Given the description of an element on the screen output the (x, y) to click on. 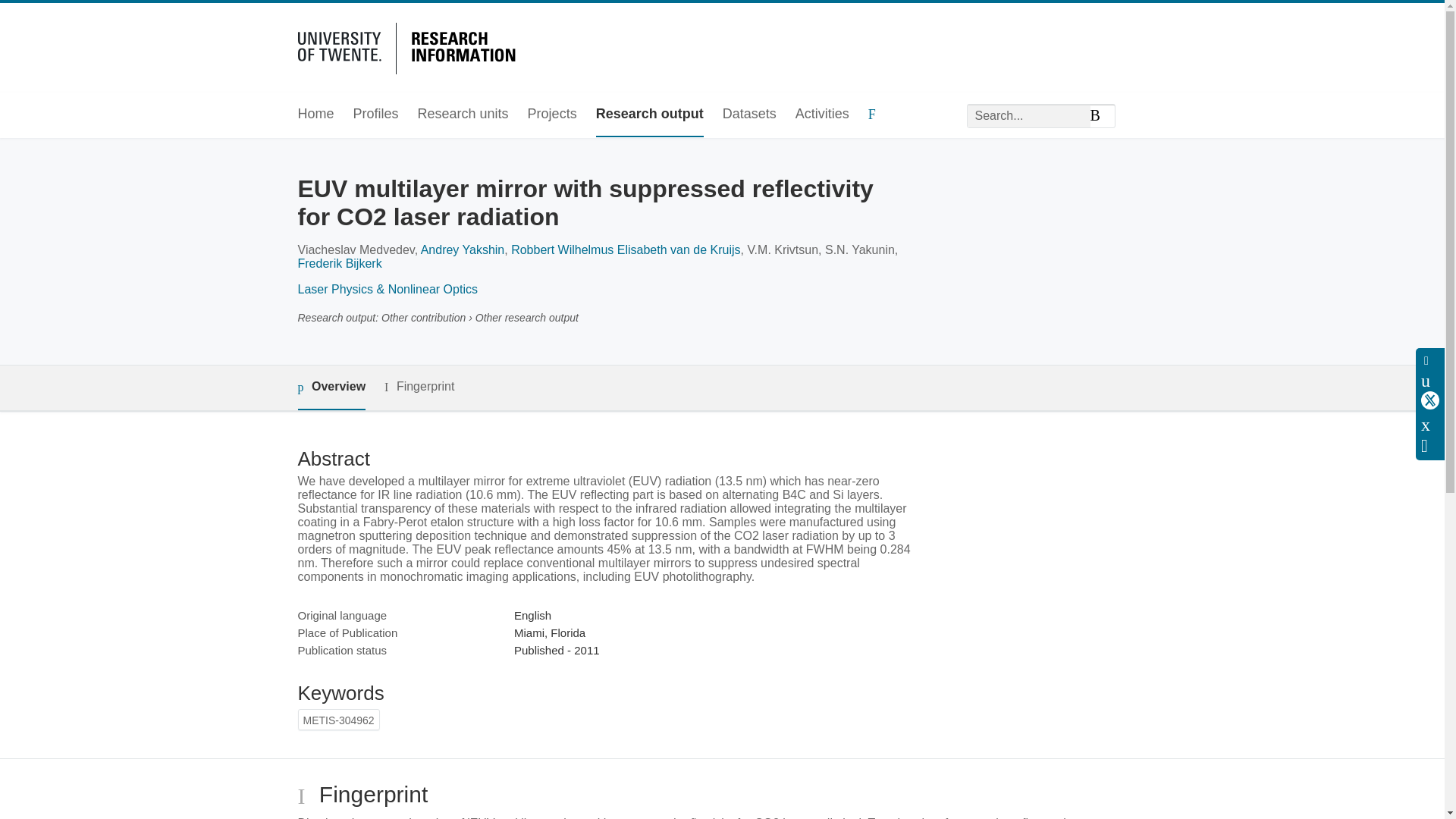
University of Twente Research Information Home (409, 45)
Overview (331, 387)
Projects (551, 114)
Research units (462, 114)
Profiles (375, 114)
Research output (649, 114)
Frederik Bijkerk (339, 263)
Robbert Wilhelmus Elisabeth van de Kruijs (625, 249)
Fingerprint (419, 386)
Activities (821, 114)
